Given the description of an element on the screen output the (x, y) to click on. 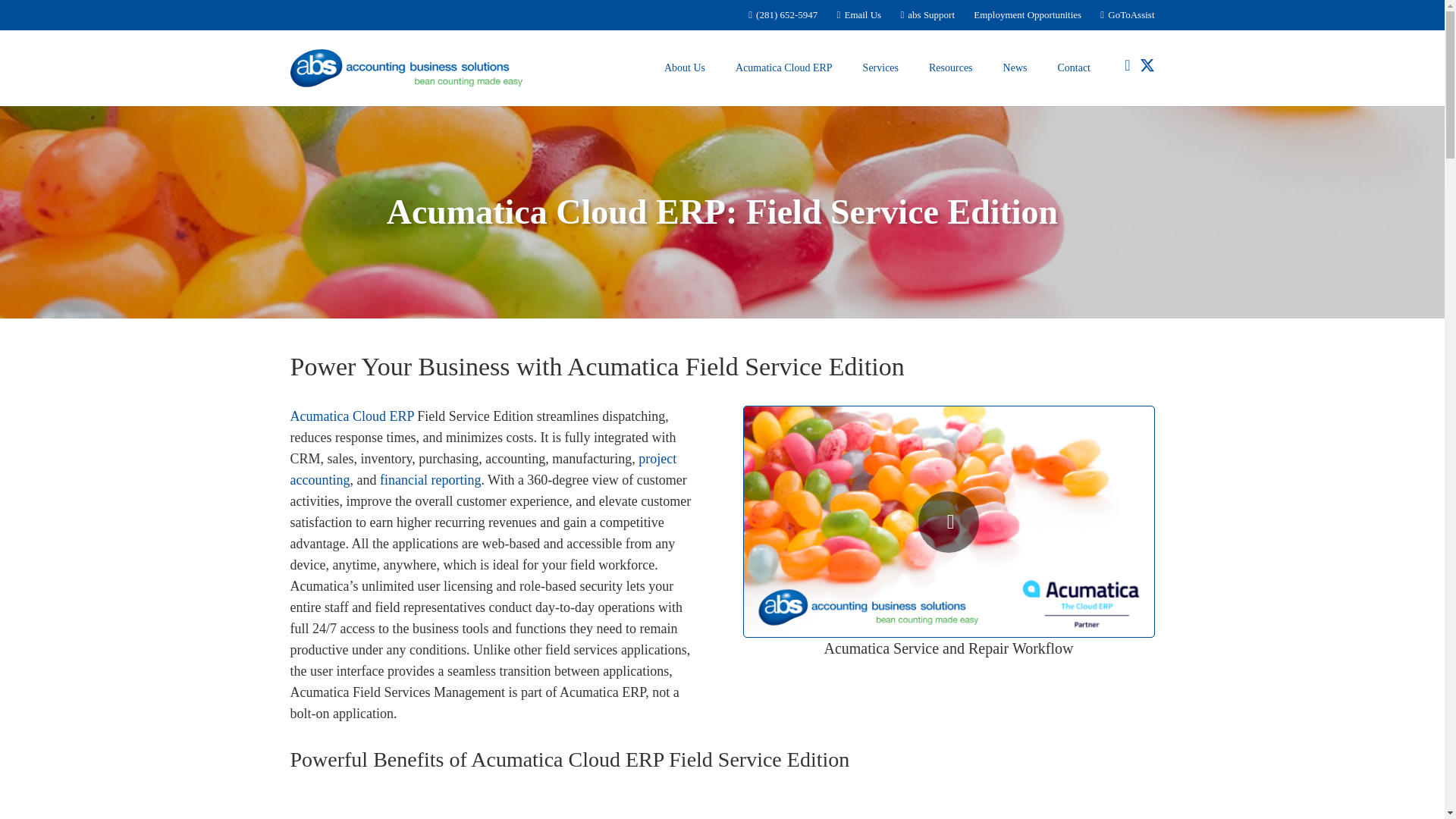
Acumatica Cloud ERP (351, 416)
financial reporting (430, 479)
GoToAssist (1127, 14)
Resources (951, 67)
Email Us (859, 14)
Acumatica Cloud ERP (783, 67)
Employment Opportunities (1027, 14)
Twitter (1147, 65)
Services (880, 67)
About Us (684, 67)
News (1015, 67)
project accounting (483, 469)
Contact (1073, 67)
abs Support (927, 14)
